Given the description of an element on the screen output the (x, y) to click on. 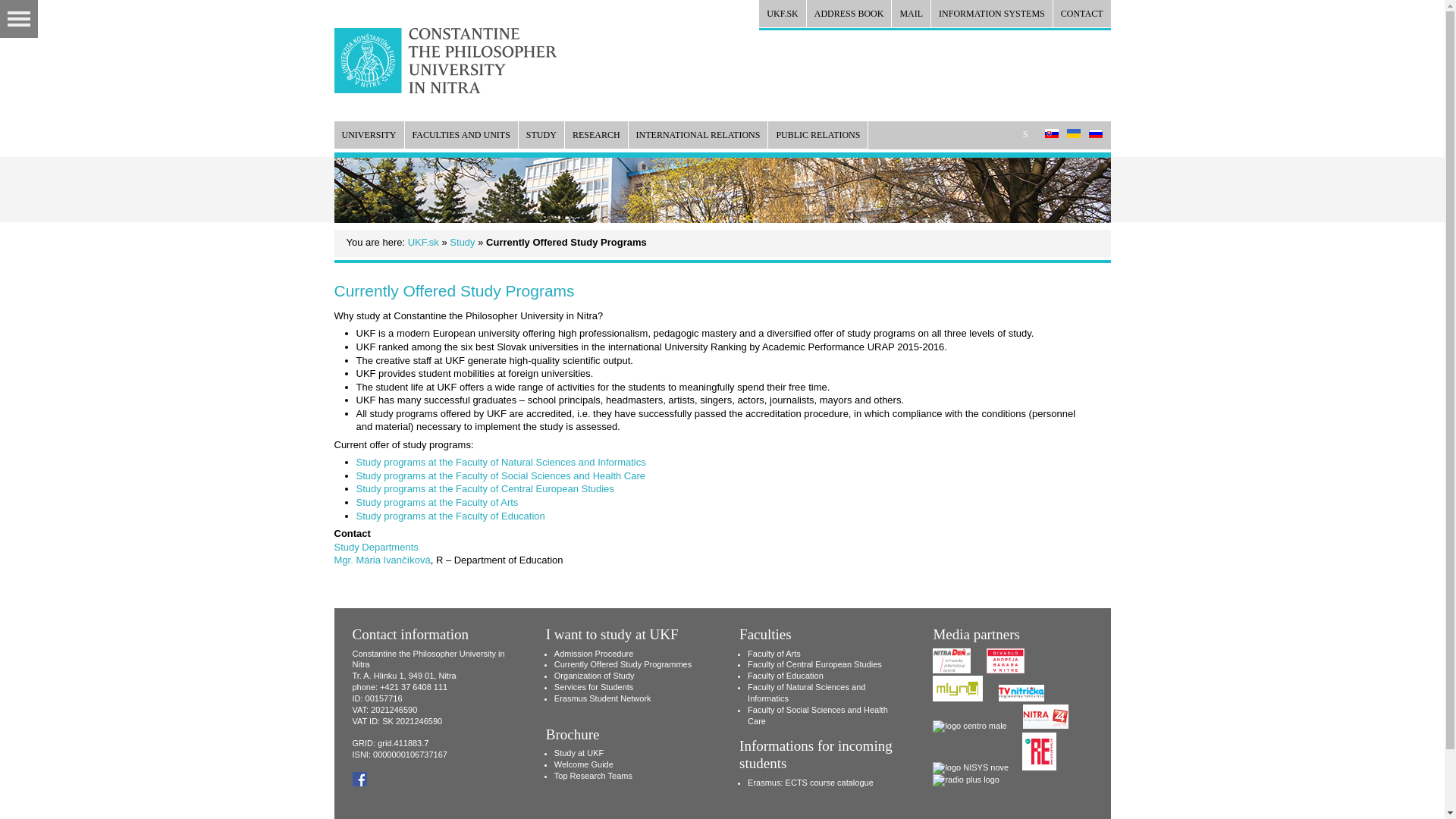
UKF.SK (781, 13)
MAIL (910, 13)
INFORMATION SYSTEMS (991, 13)
CONTACT (1081, 13)
ADDRESS BOOK (848, 13)
